Given the description of an element on the screen output the (x, y) to click on. 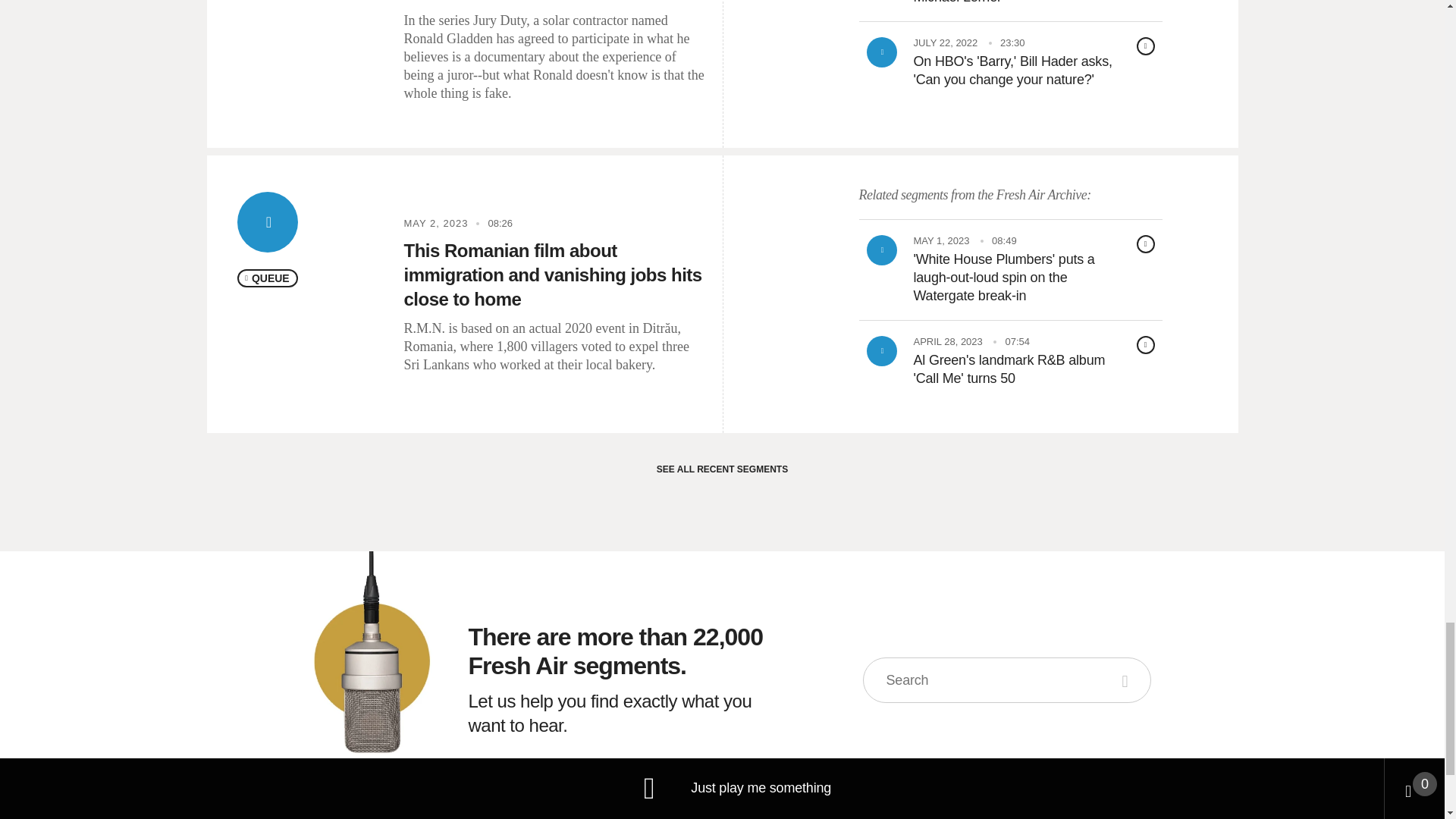
Search (1127, 679)
